Given the description of an element on the screen output the (x, y) to click on. 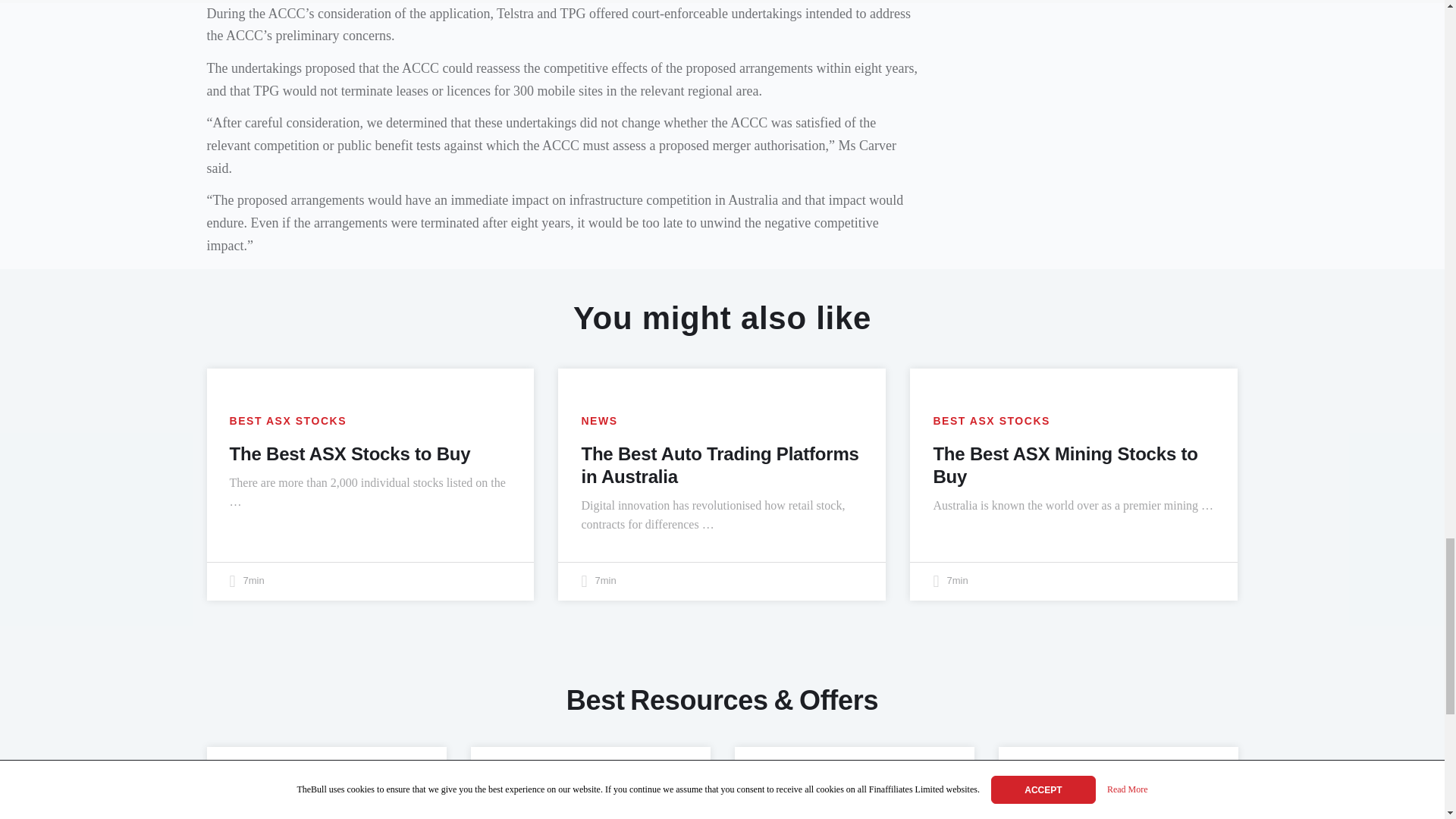
The Best Auto Trading Platforms in Australia (719, 464)
NEWS (598, 420)
BEST ASX STOCKS (991, 420)
BEST ASX STOCKS (287, 420)
The Best ASX Stocks to Buy (349, 453)
